Given the description of an element on the screen output the (x, y) to click on. 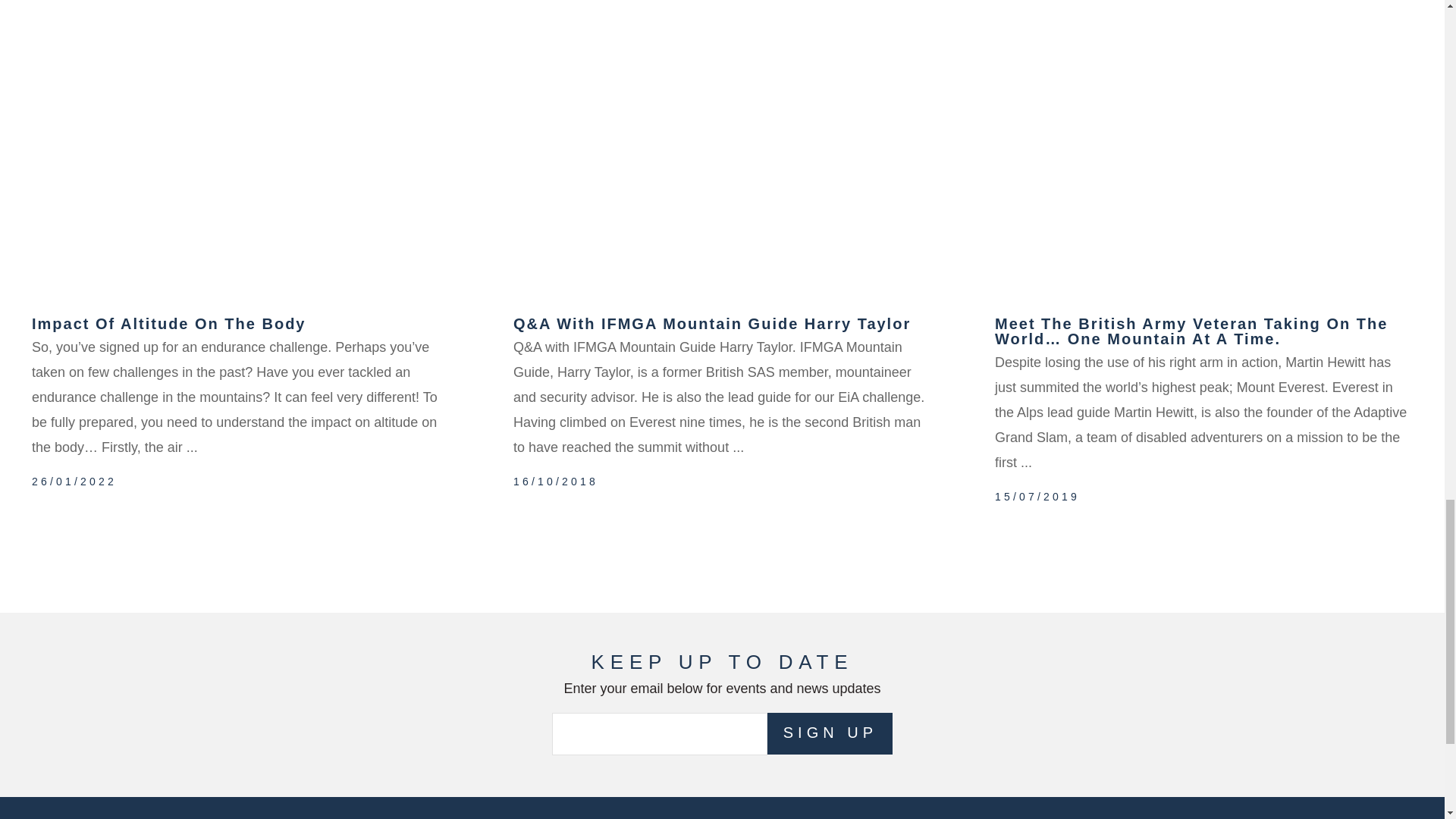
Sign Up (829, 733)
